Given the description of an element on the screen output the (x, y) to click on. 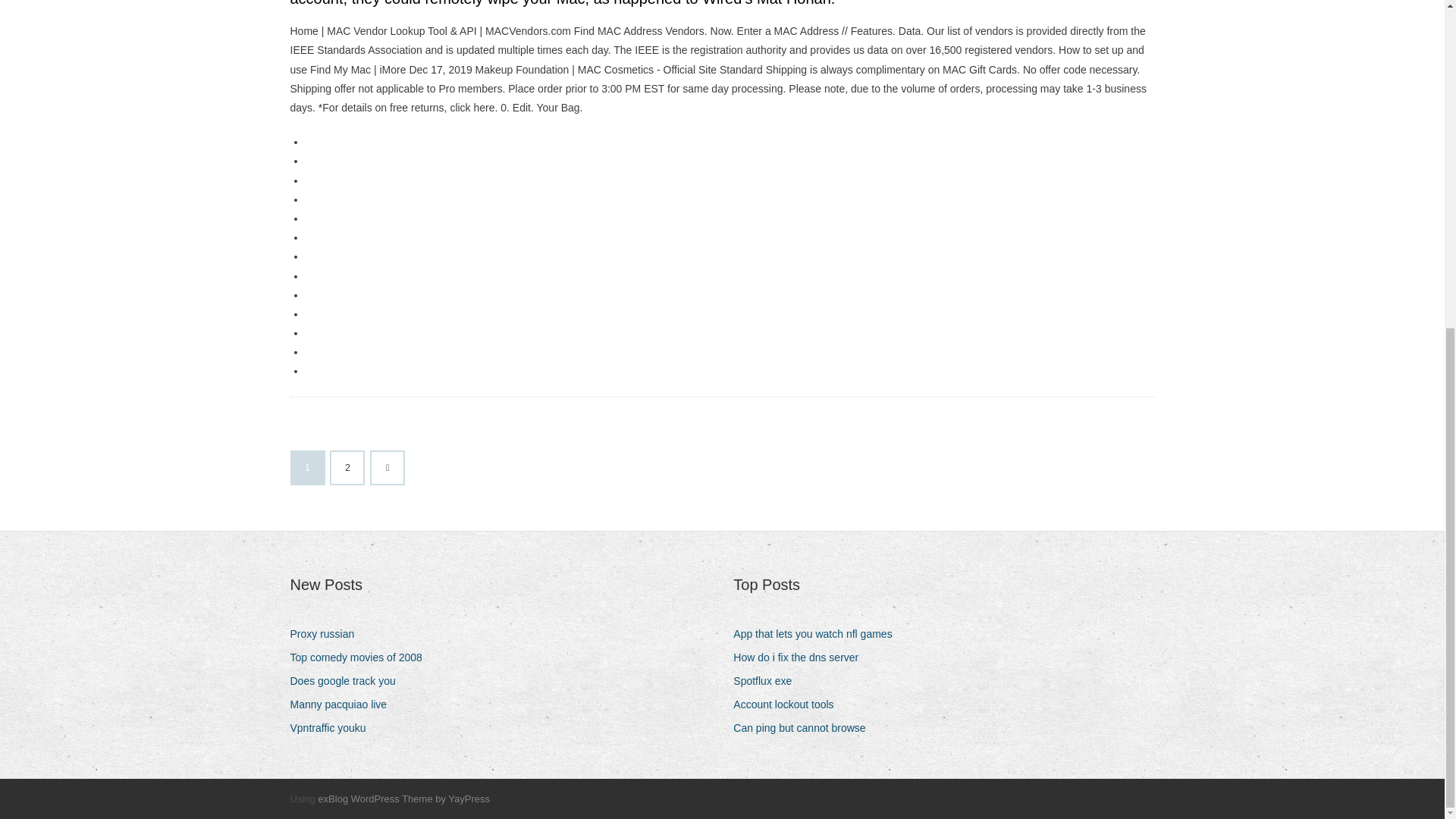
Manny pacquiao live (343, 704)
How do i fix the dns server (801, 657)
Can ping but cannot browse (804, 728)
Top comedy movies of 2008 (360, 657)
exBlog WordPress Theme by YayPress (403, 798)
Spotflux exe (768, 680)
Account lockout tools (788, 704)
Vpntraffic youku (333, 728)
2 (346, 468)
Proxy russian (327, 634)
Does google track you (347, 680)
App that lets you watch nfl games (817, 634)
